Given the description of an element on the screen output the (x, y) to click on. 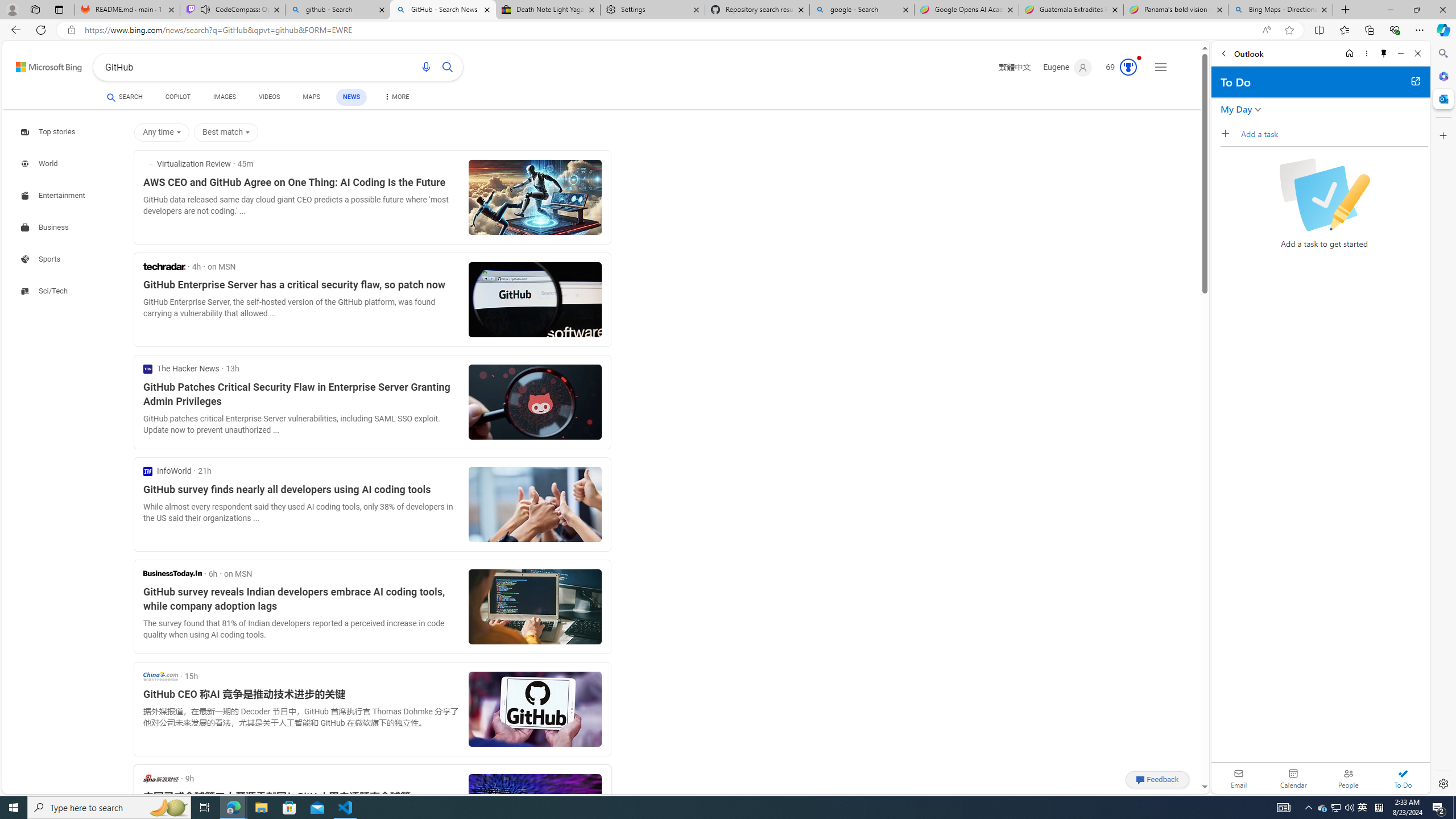
COPILOT (178, 96)
Any time (163, 132)
Google Opens AI Academy for Startups - Nearshore Americas (966, 9)
Search news from The Hacker News (180, 368)
TechRadar (163, 266)
Best match (227, 132)
Animation (1139, 57)
